Given the description of an element on the screen output the (x, y) to click on. 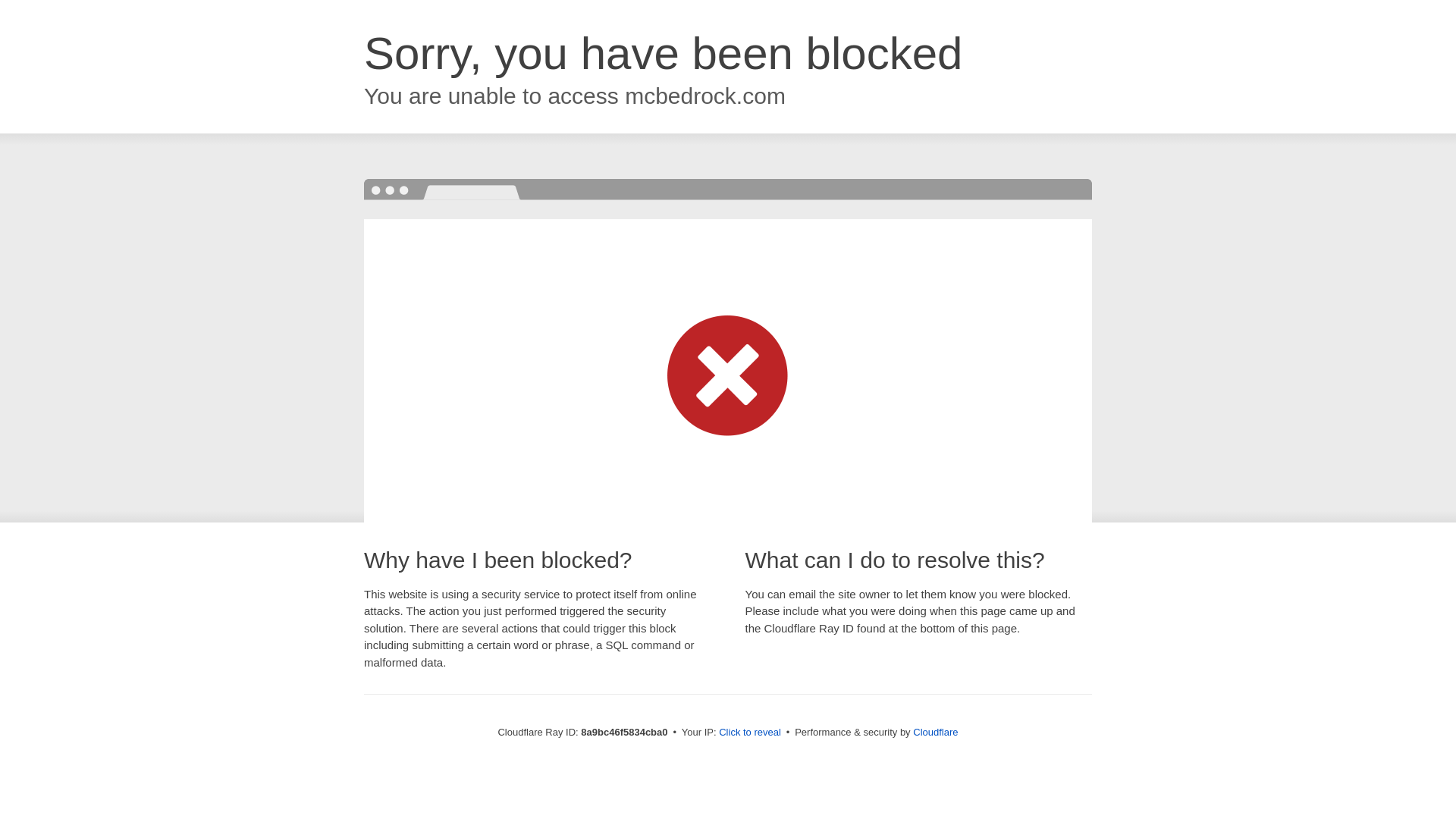
Click to reveal (749, 732)
Cloudflare (935, 731)
